Given the description of an element on the screen output the (x, y) to click on. 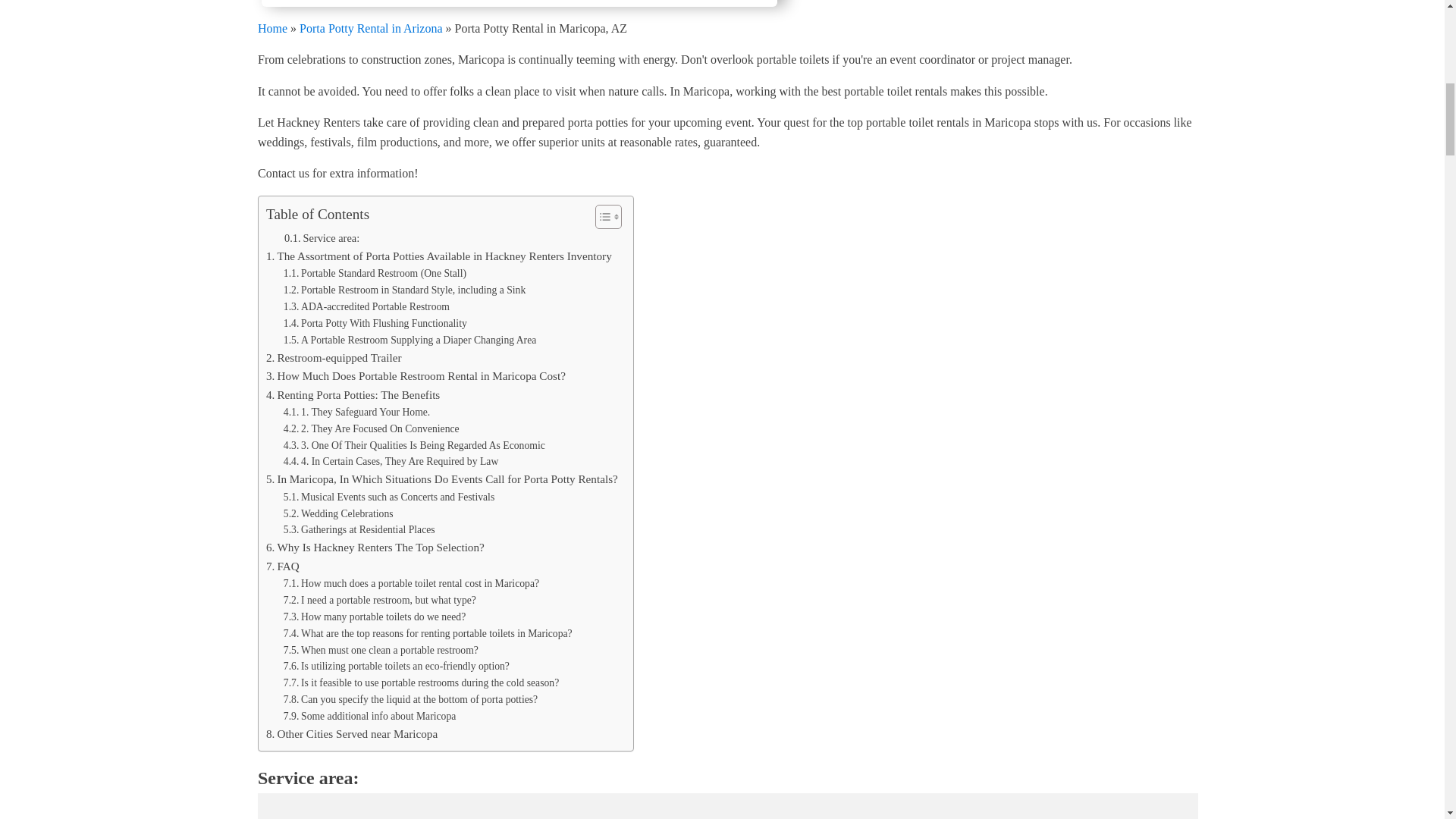
Restroom-equipped Trailer (333, 357)
1. They Safeguard Your Home. (356, 412)
A Portable Restroom Supplying a Diaper Changing Area (409, 340)
Portable Restroom in Standard Style, including a Sink (404, 289)
How Much Does Portable Restroom Rental in Maricopa Cost? (416, 375)
How Much Does Portable Restroom Rental in Maricopa Cost? (416, 375)
Portable Restroom in Standard Style, including a Sink (404, 289)
ADA-accredited Portable Restroom (366, 306)
2. They Are Focused On Convenience (371, 428)
Renting Porta Potties: The Benefits (352, 393)
Home (271, 27)
A Portable Restroom Supplying a Diaper Changing Area (409, 340)
